Given the description of an element on the screen output the (x, y) to click on. 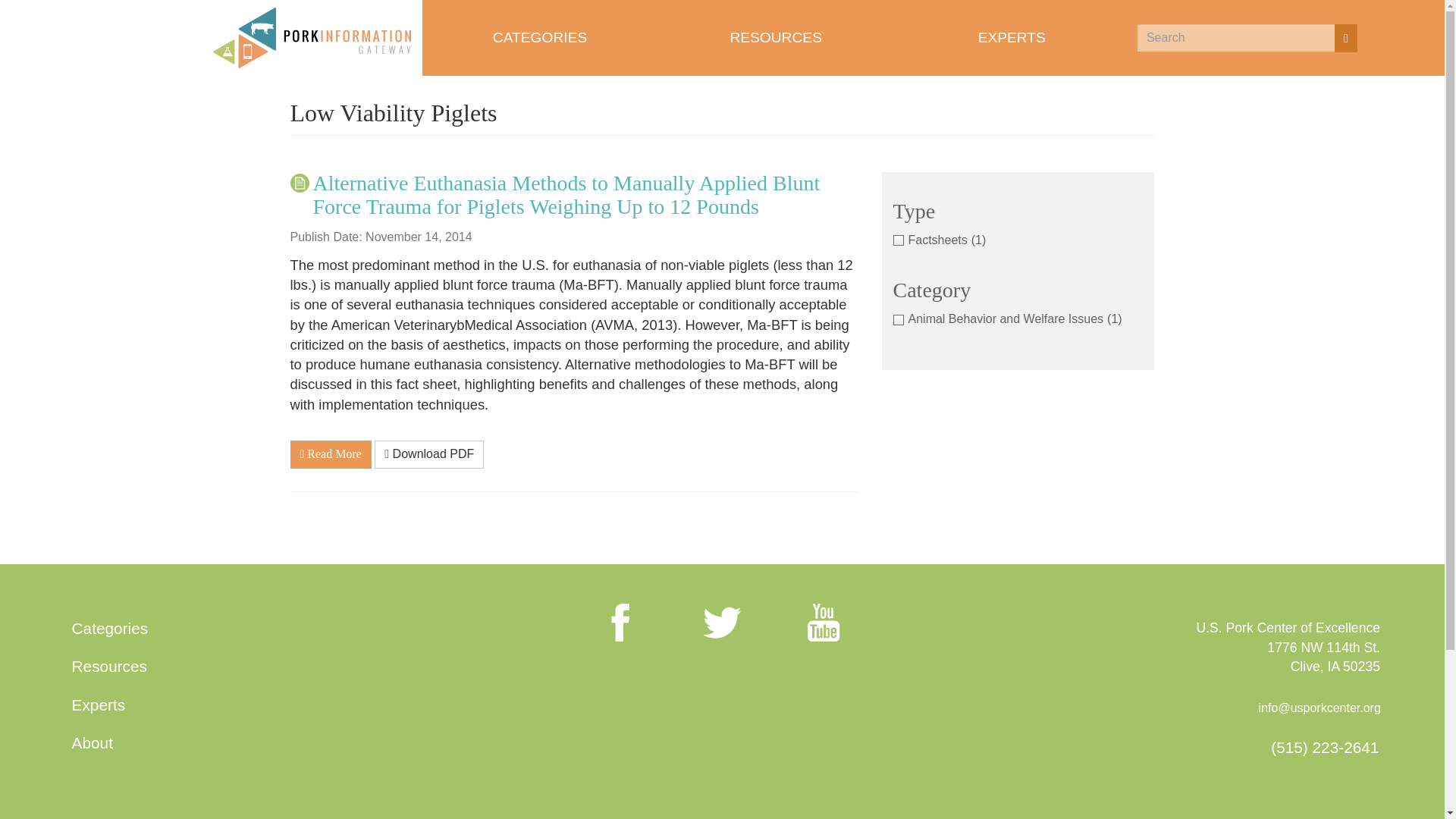
Download PDF (428, 454)
RESOURCES (775, 38)
Experts (98, 704)
Categories (109, 627)
Resources (109, 666)
About (92, 743)
Read More (330, 454)
EXPERTS (1011, 38)
